Given the description of an element on the screen output the (x, y) to click on. 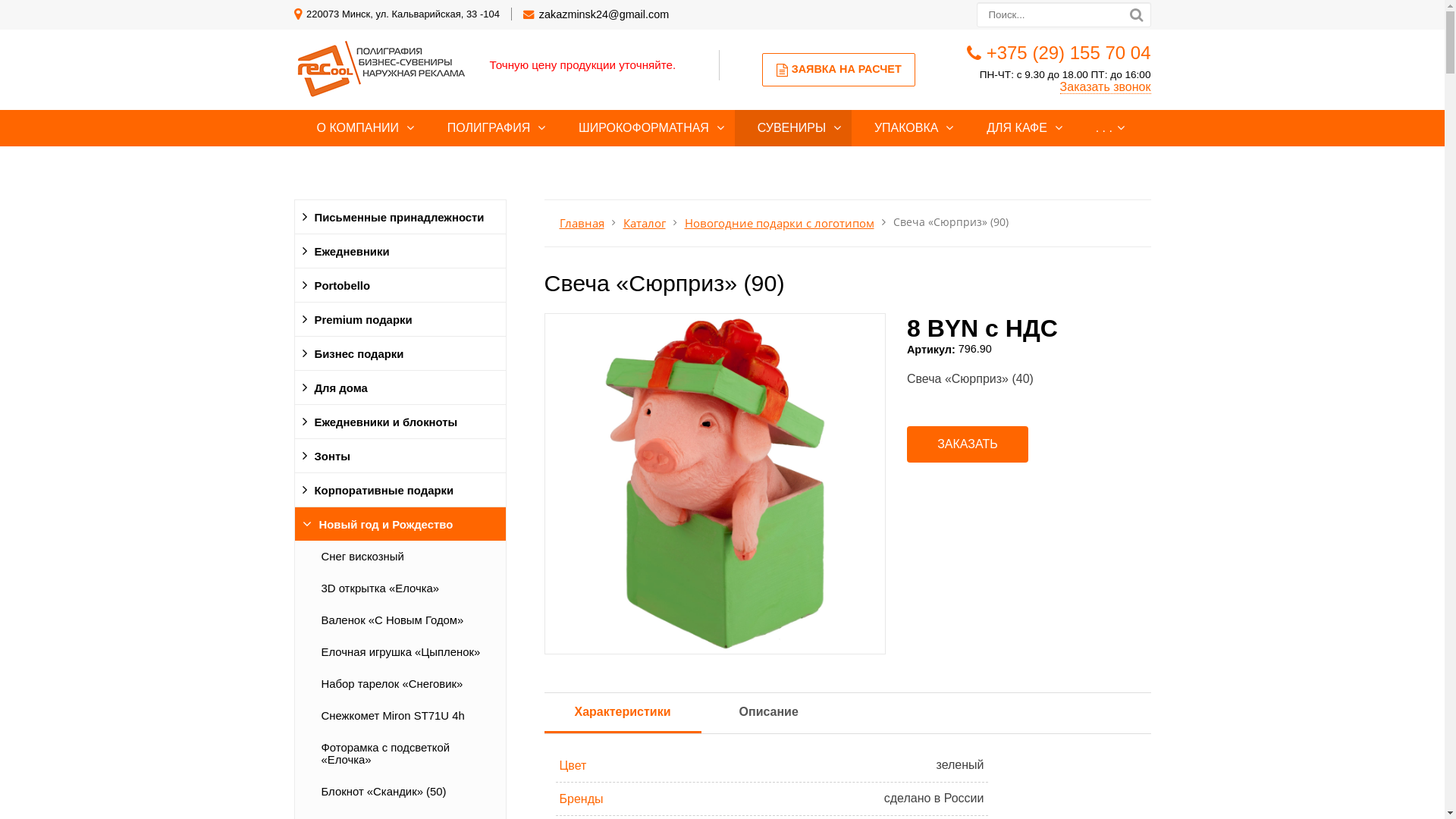
zakazminsk24@gmail.com Element type: text (603, 14)
+375 (29) 155 70 04 Element type: text (1068, 52)
. . . Element type: text (1104, 127)
Portobello Element type: text (399, 284)
